Given the description of an element on the screen output the (x, y) to click on. 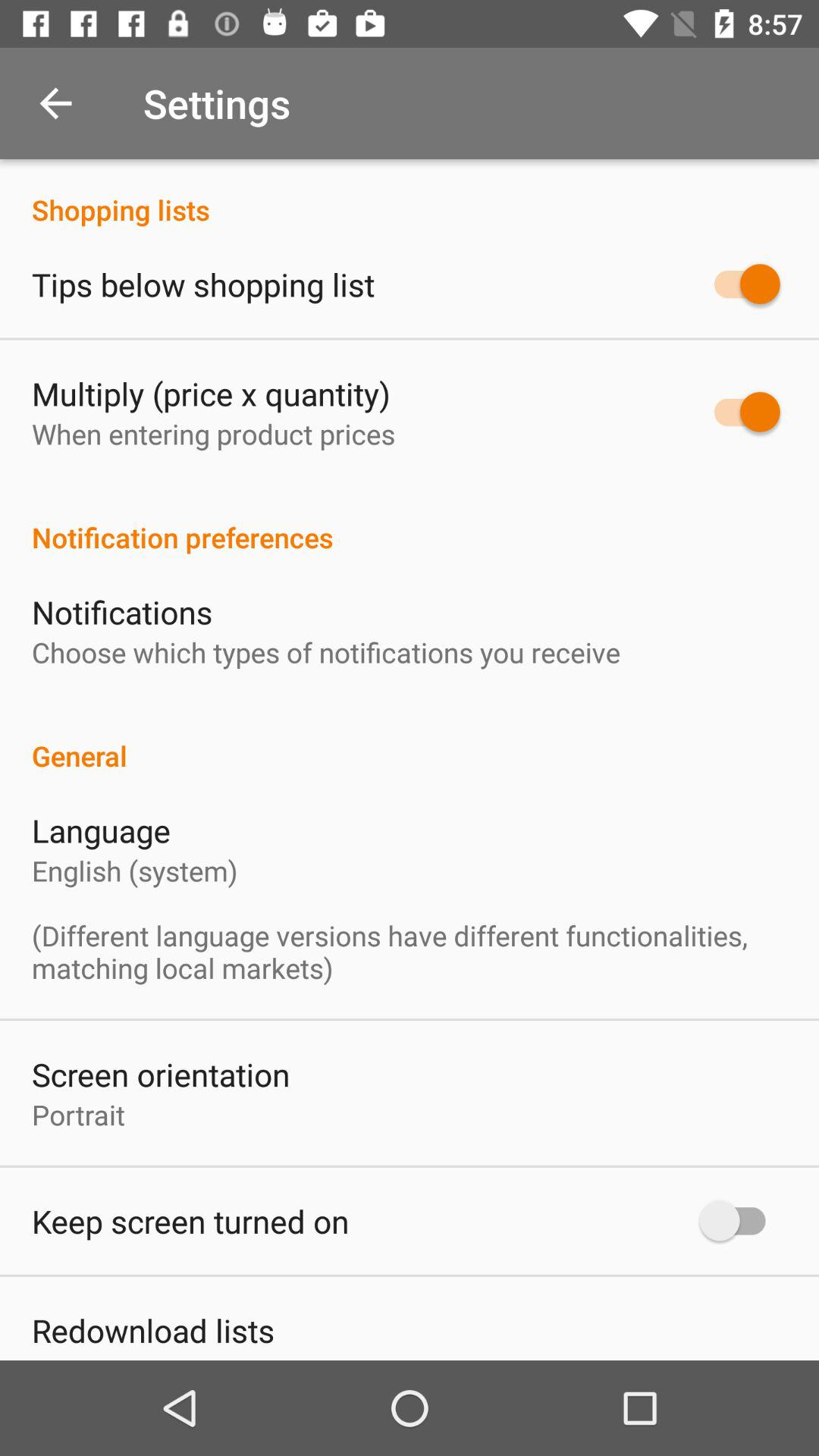
click icon above multiply price x icon (202, 283)
